Given the description of an element on the screen output the (x, y) to click on. 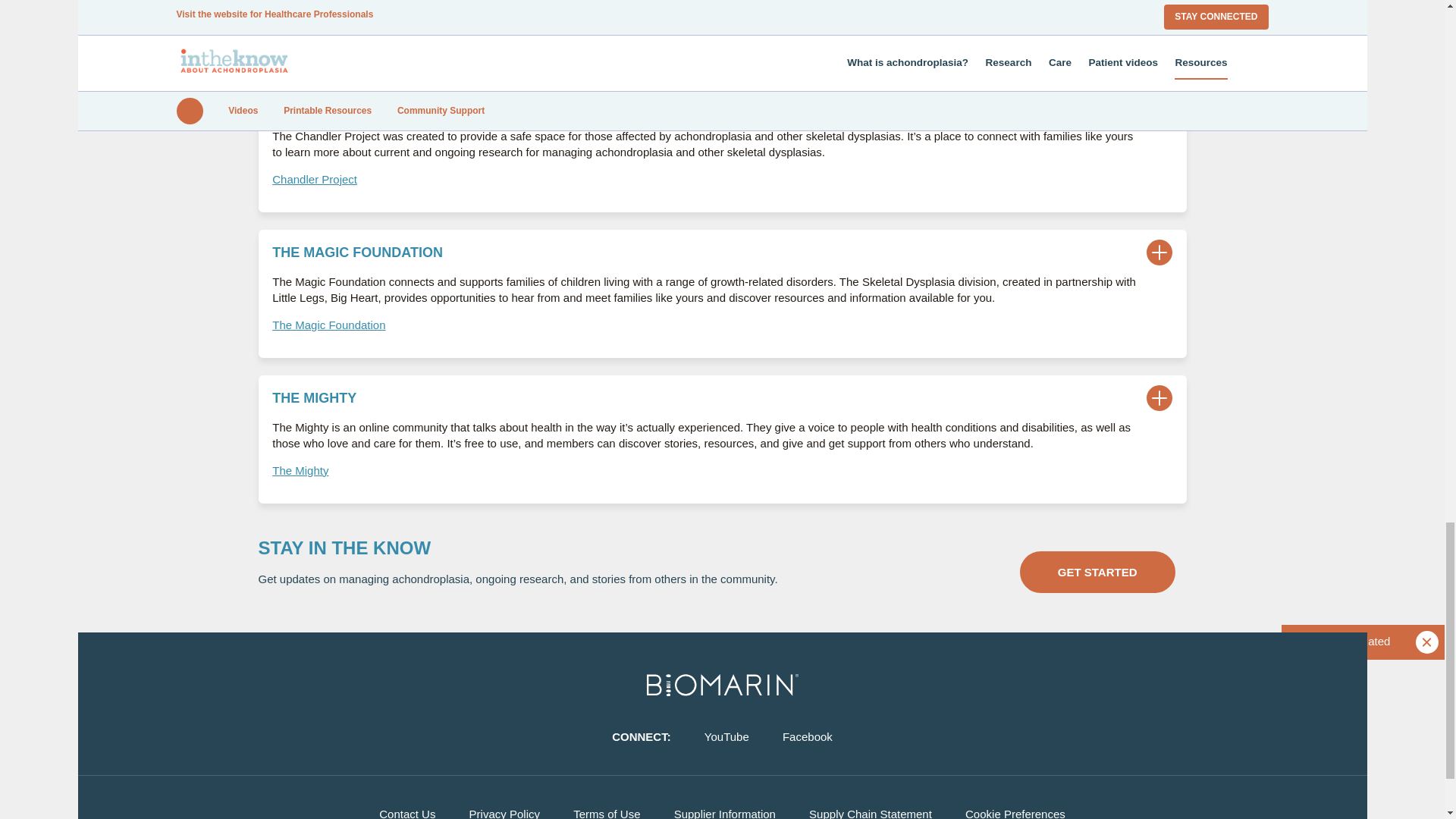
LPA Online (300, 33)
The Magic Foundation (328, 324)
GET STARTED (1097, 571)
Chandler Project (314, 178)
The Mighty (300, 470)
